Given the description of an element on the screen output the (x, y) to click on. 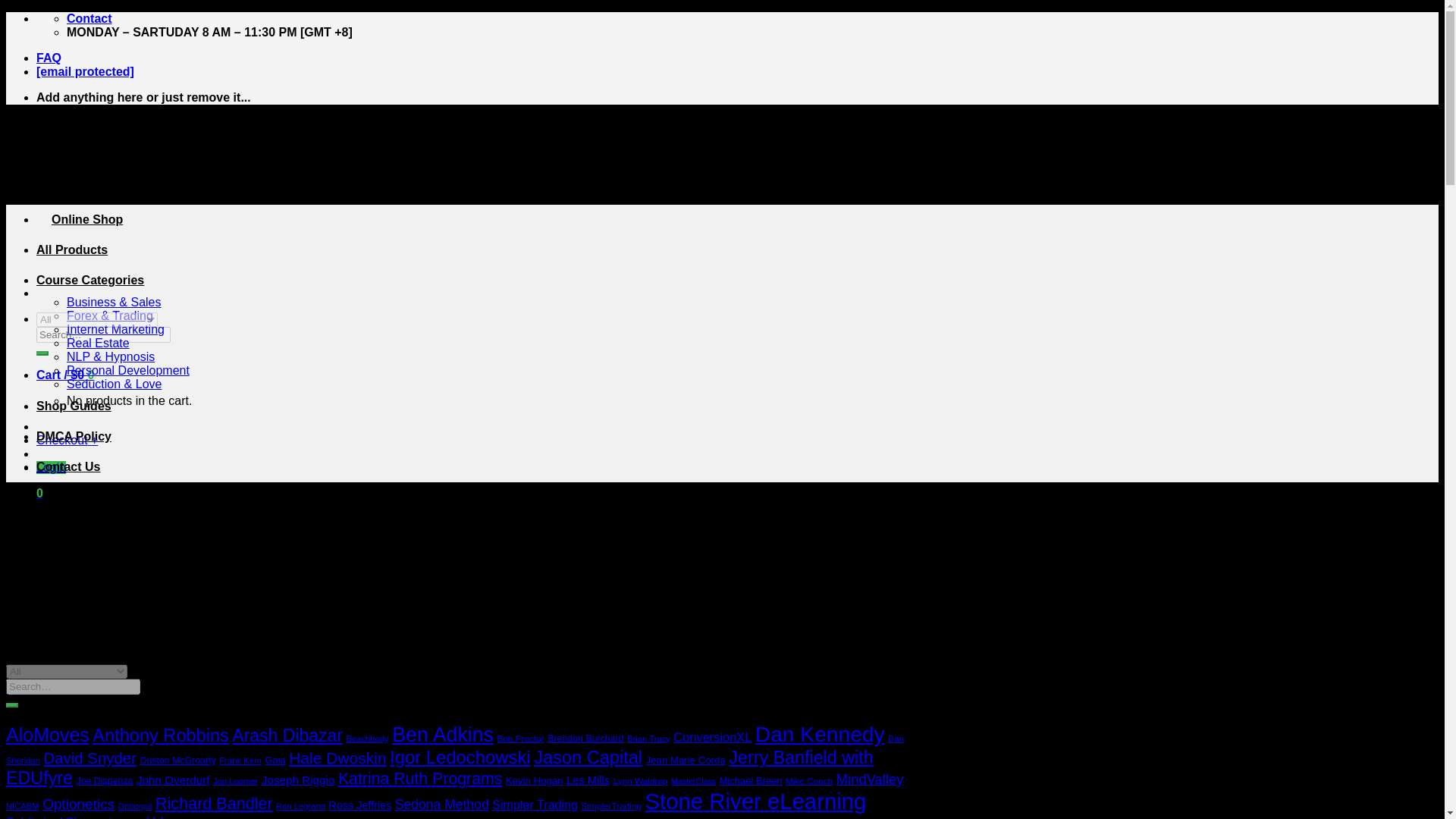
Brendon Burchard (585, 738)
Course Categories (90, 279)
AloMoves (46, 734)
Search (42, 353)
Beachbody (367, 737)
Personal Development (127, 369)
Brian Tracy (648, 737)
Ben Adkins (442, 734)
Contact (89, 18)
